Given the description of an element on the screen output the (x, y) to click on. 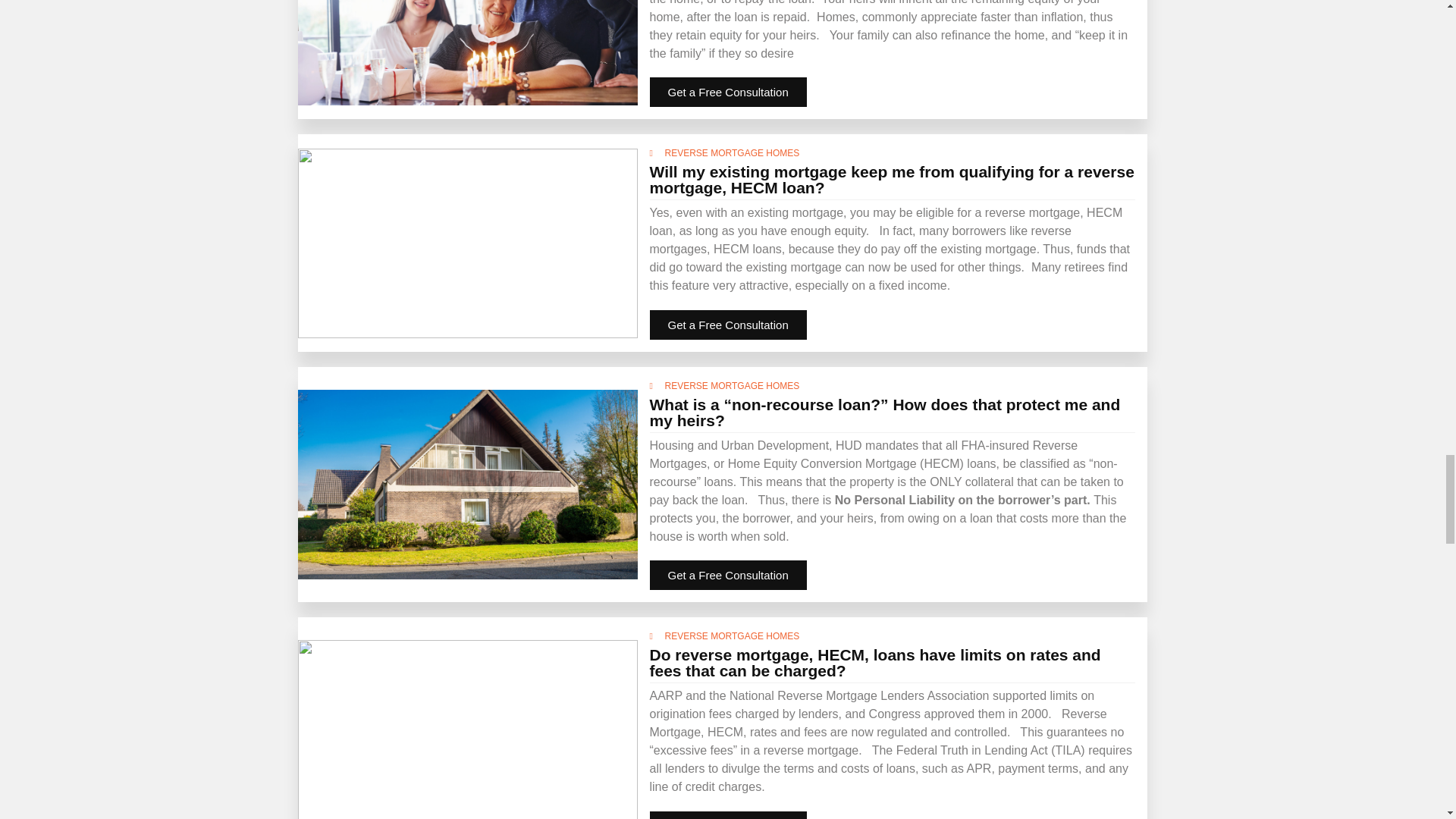
Get a Free Consultation (727, 91)
Get a Free Consultation (727, 574)
Get a Free Consultation (727, 815)
Get a Free Consultation (727, 324)
